Given the description of an element on the screen output the (x, y) to click on. 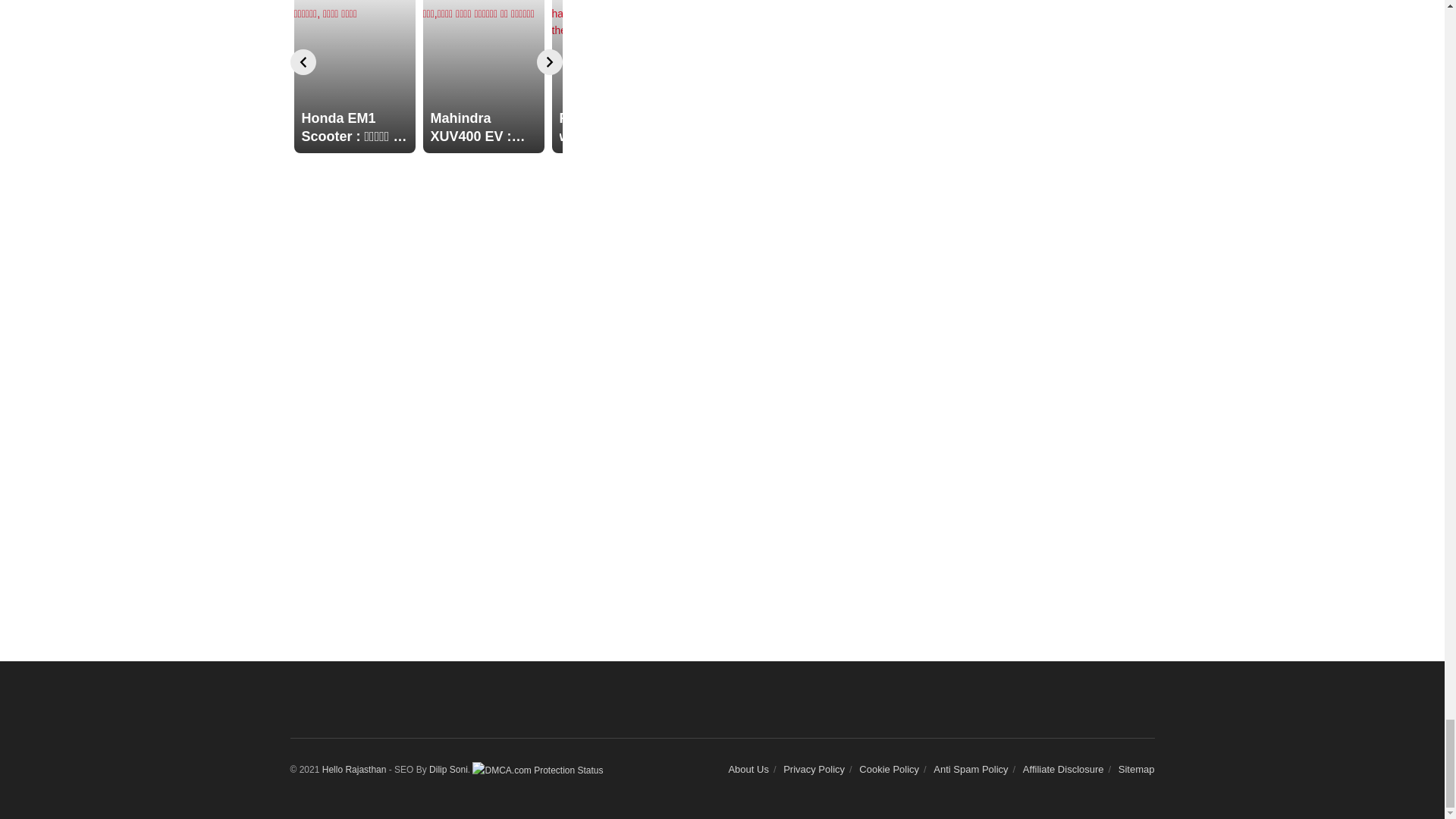
DMCA.com Protection Status (536, 769)
Dilip Soni (446, 769)
Hello Rajasthan (354, 769)
